Given the description of an element on the screen output the (x, y) to click on. 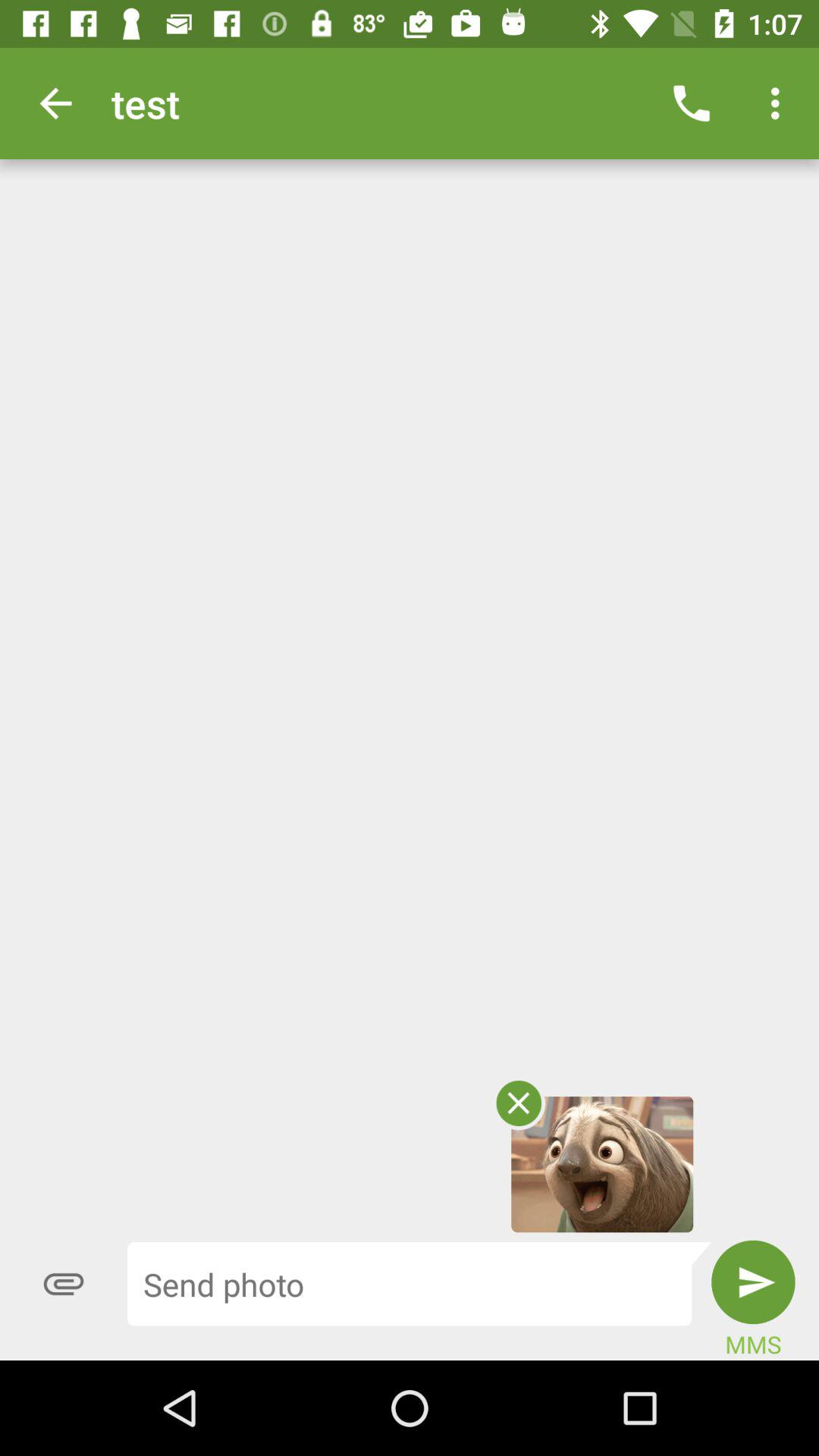
turn on icon next to test (55, 103)
